Given the description of an element on the screen output the (x, y) to click on. 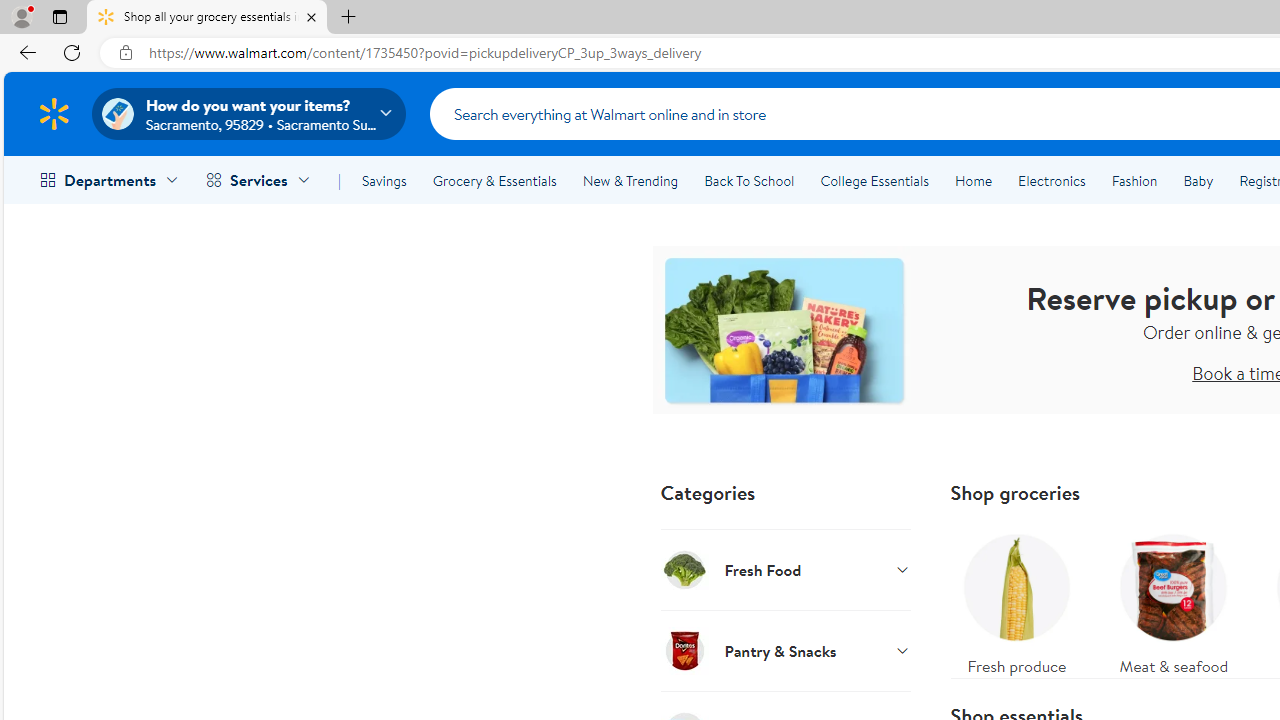
Savings (384, 180)
Fresh Food (785, 569)
New & Trending (630, 180)
Walmart Homepage (53, 113)
Fresh produce (1016, 599)
Grocery & Essentials (493, 180)
Home (973, 180)
Shop all your grocery essentials in one place! - Walmart.com (207, 17)
View site information (125, 53)
Back To School (749, 180)
Home (973, 180)
